Given the description of an element on the screen output the (x, y) to click on. 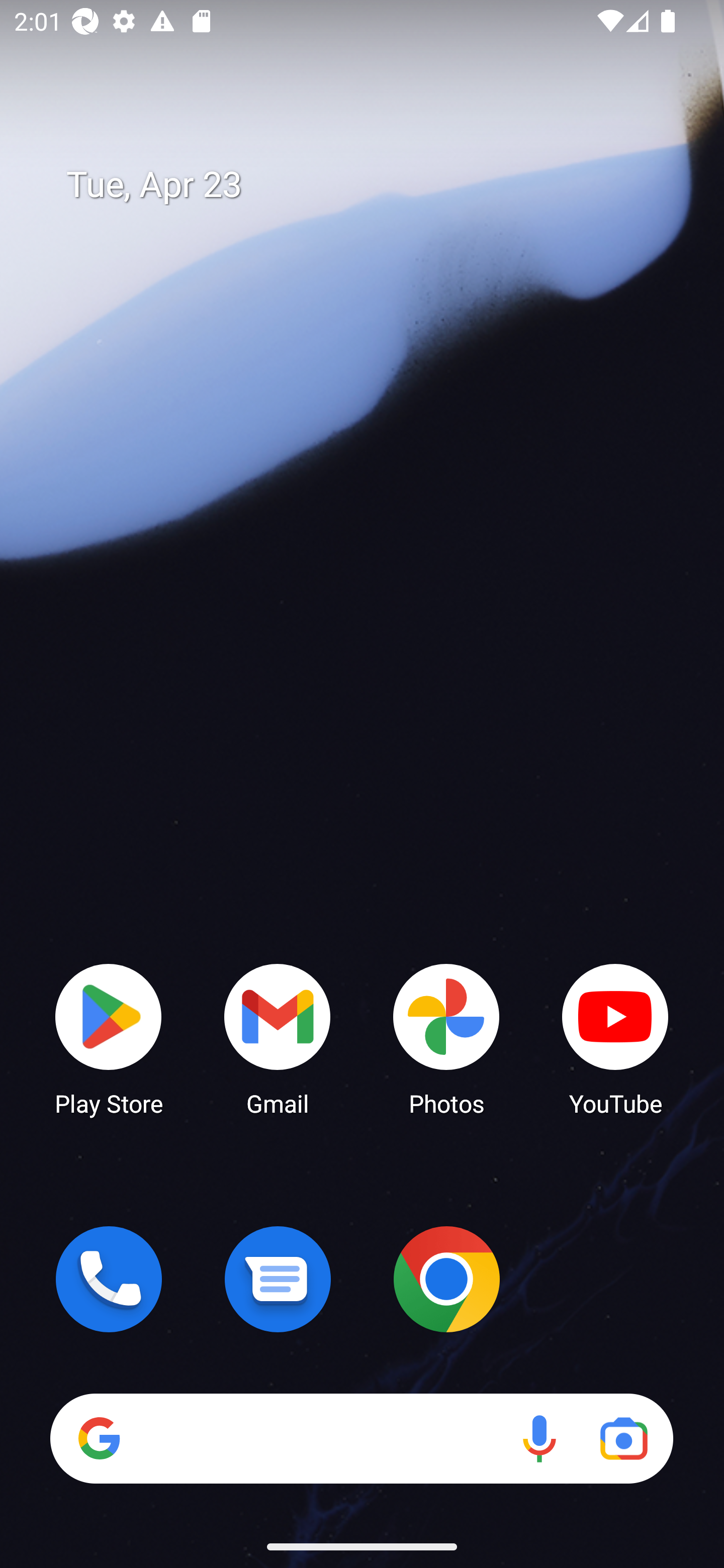
Tue, Apr 23 (375, 184)
Play Store (108, 1038)
Gmail (277, 1038)
Photos (445, 1038)
YouTube (615, 1038)
Phone (108, 1279)
Messages (277, 1279)
Chrome (446, 1279)
Search Voice search Google Lens (361, 1438)
Voice search (539, 1438)
Google Lens (623, 1438)
